Given the description of an element on the screen output the (x, y) to click on. 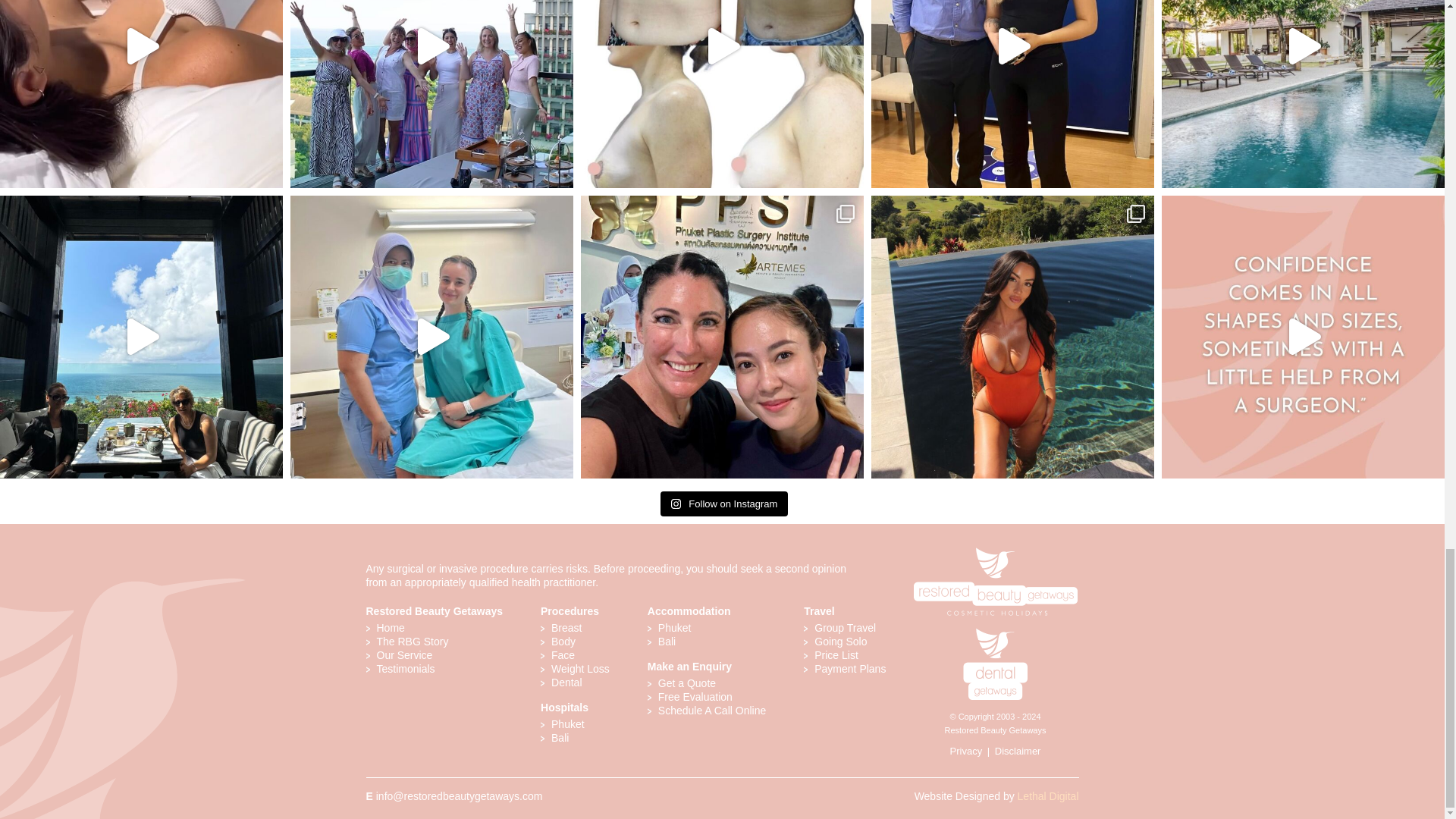
Dental Getaways (994, 633)
Restored Beauty Getaways (995, 549)
